Given the description of an element on the screen output the (x, y) to click on. 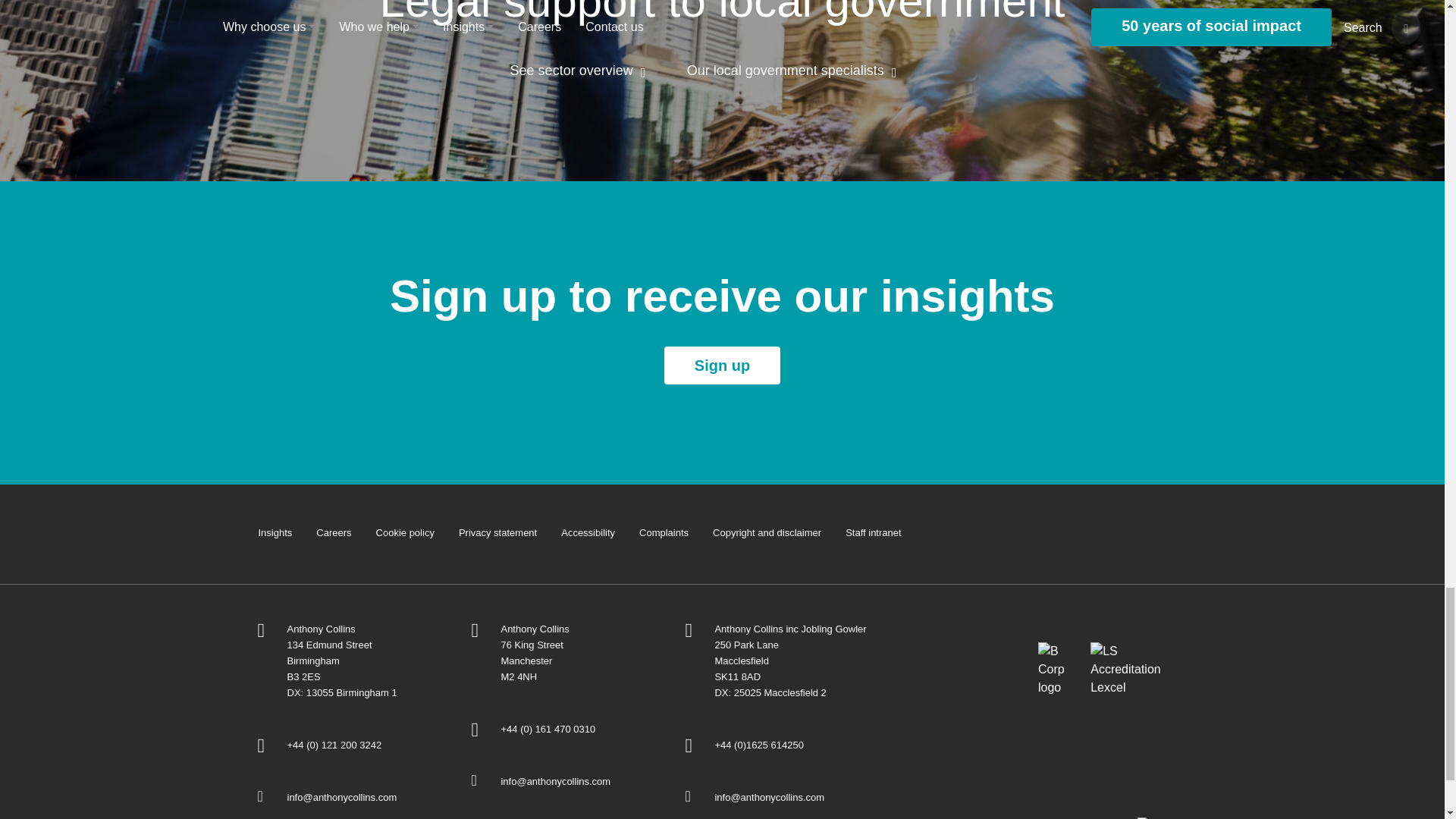
Solicitors Regulation Authority (961, 658)
